Given the description of an element on the screen output the (x, y) to click on. 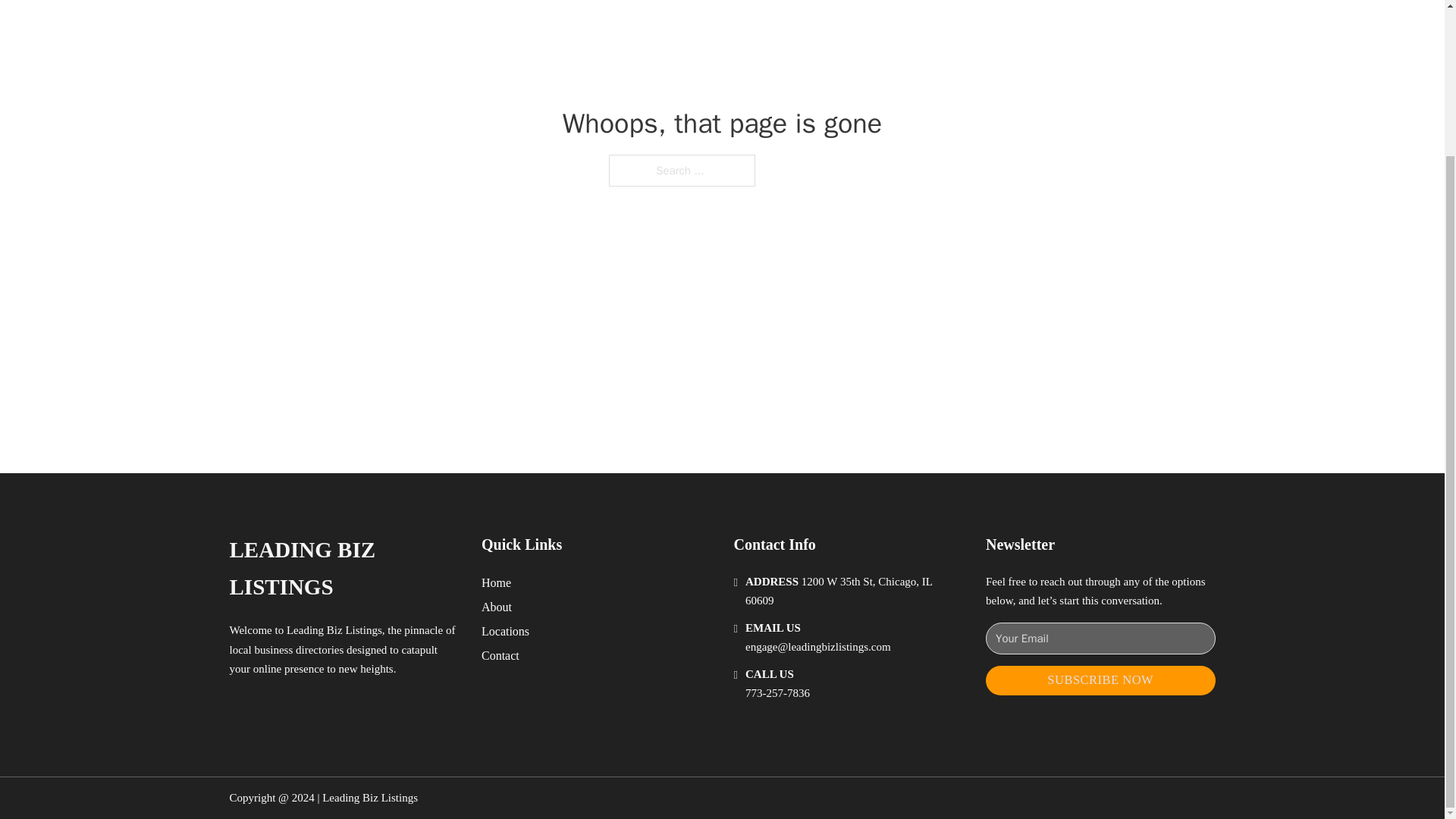
Locations (505, 630)
SUBSCRIBE NOW (1100, 680)
Contact (500, 655)
Home (496, 582)
About (496, 607)
LEADING BIZ LISTINGS (343, 568)
773-257-7836 (777, 693)
